Given the description of an element on the screen output the (x, y) to click on. 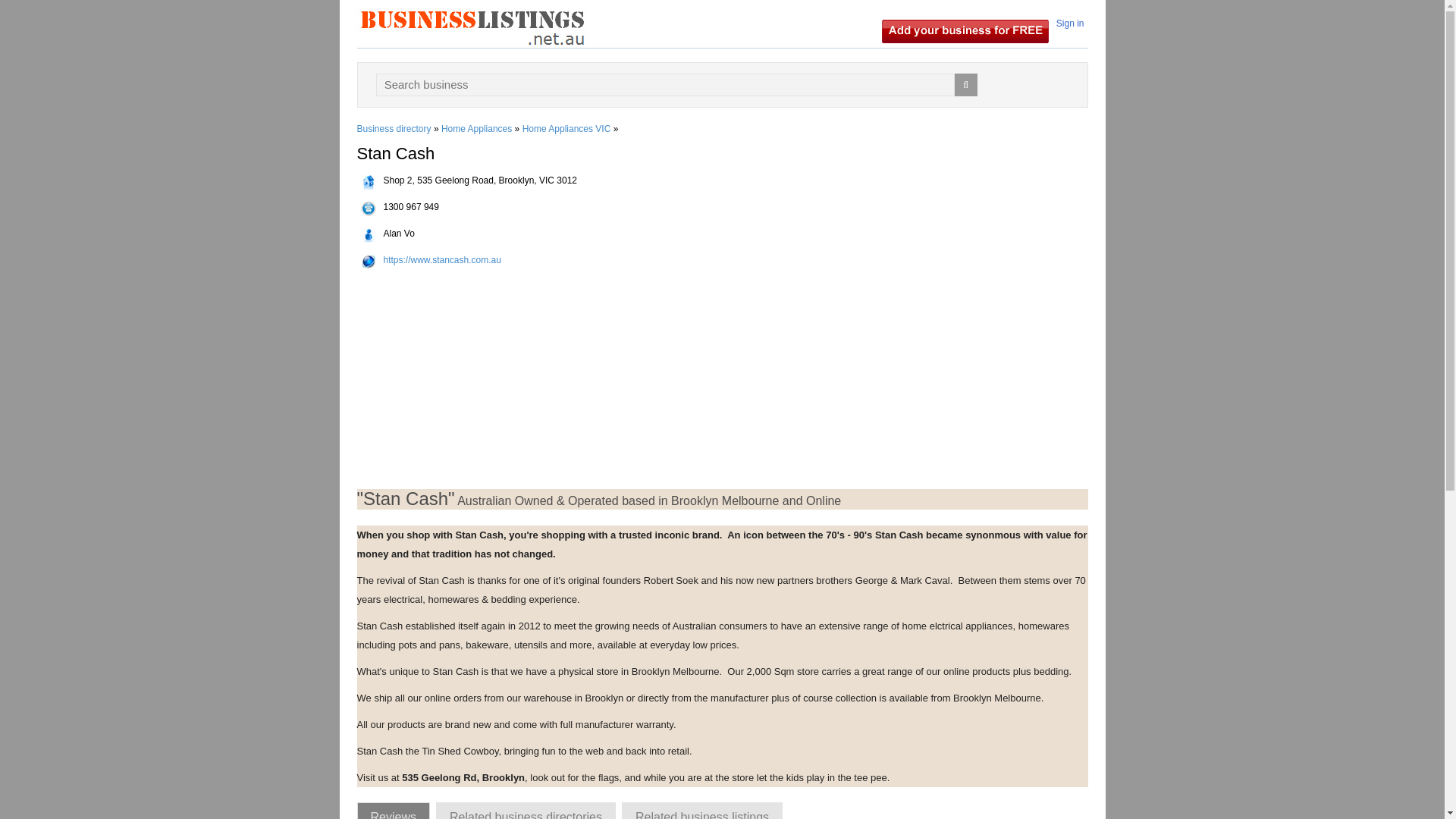
Home Appliances (476, 128)
Related business directories (525, 810)
Business directory (393, 128)
Related business listings (702, 810)
Home Appliances VIC (566, 128)
Sign in (1069, 23)
Business Listings (472, 27)
Add you business for free (964, 30)
Reviews (392, 810)
